Given the description of an element on the screen output the (x, y) to click on. 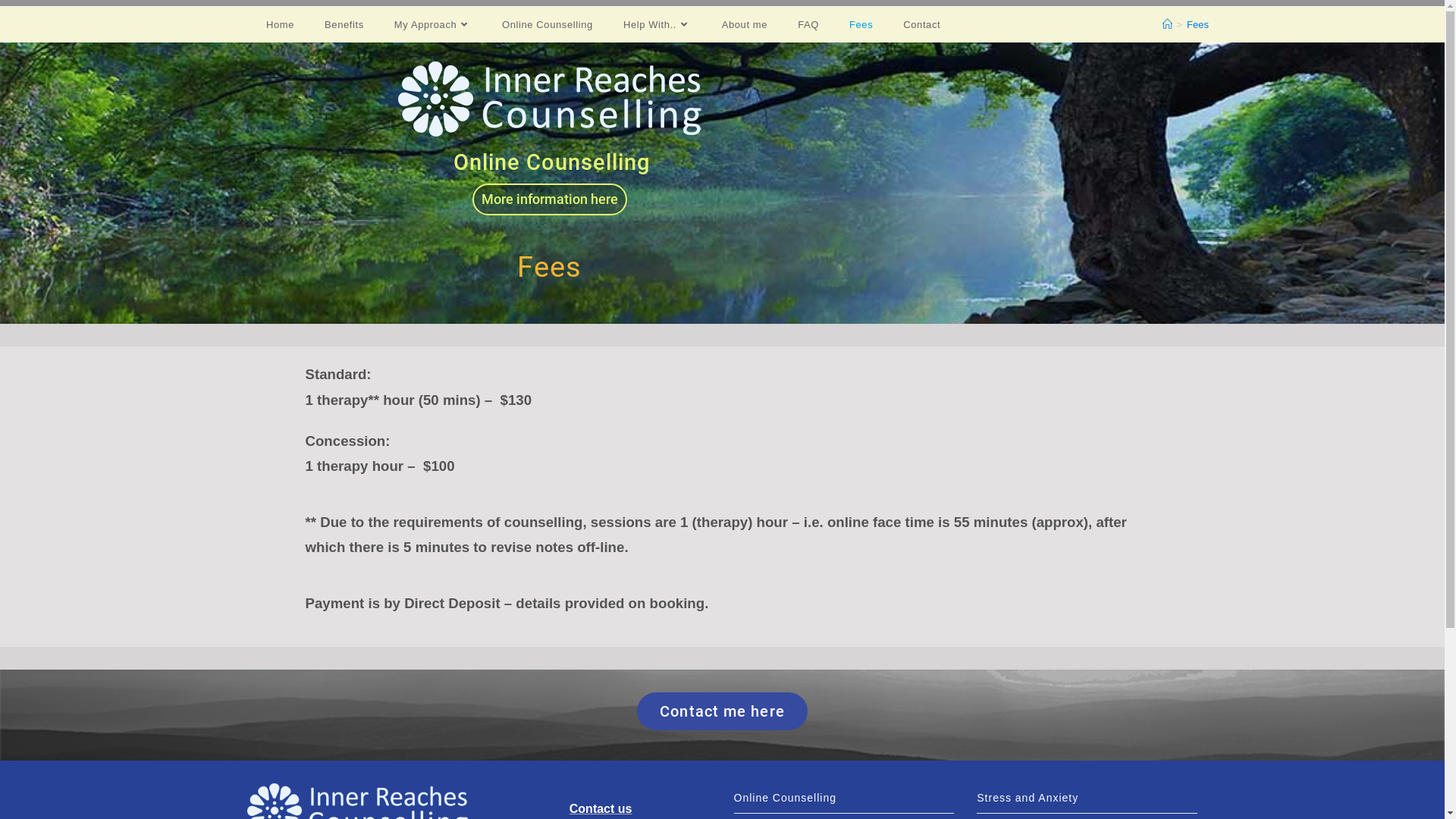
Home Element type: text (280, 24)
Online Counselling Element type: text (844, 797)
Contact us Element type: text (600, 808)
More information here Element type: text (548, 199)
Benefits Element type: text (344, 24)
FAQ Element type: text (808, 24)
Online Counselling Element type: text (547, 24)
Contact me here Element type: text (722, 711)
Fees Element type: text (1197, 23)
Help With.. Element type: text (657, 24)
Stress and Anxiety Element type: text (1086, 797)
Contact Element type: text (921, 24)
About me Element type: text (744, 24)
Fees Element type: text (861, 24)
My Approach Element type: text (432, 24)
